Given the description of an element on the screen output the (x, y) to click on. 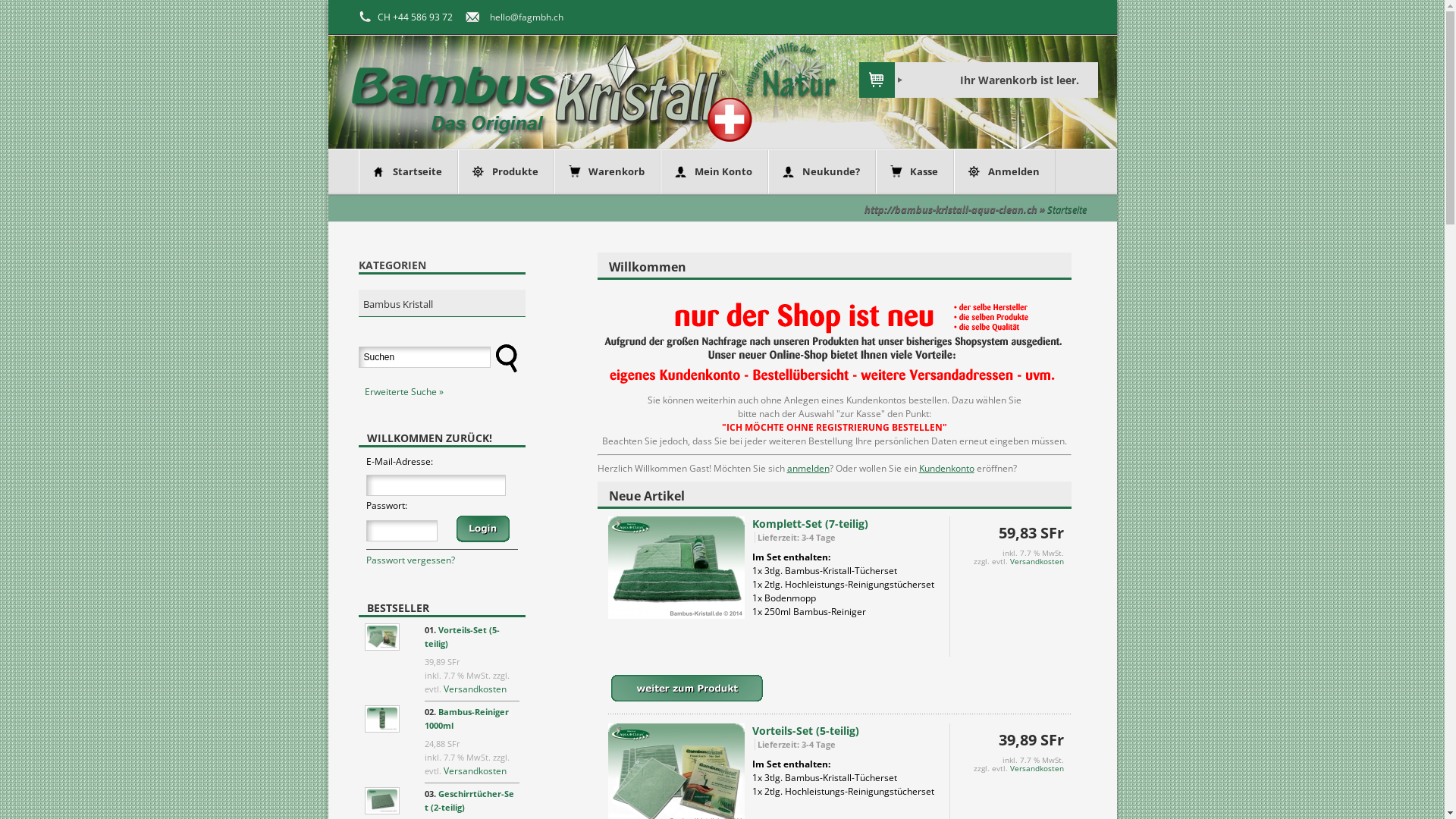
Versandkosten Element type: text (473, 688)
Warenkorb Element type: text (616, 171)
Neukunde? Element type: text (831, 171)
Startseite Element type: text (1065, 209)
anmelden Element type: text (808, 467)
 Anmelden  Element type: hover (482, 528)
Versandkosten Element type: text (473, 770)
hello@fagmbh.ch Element type: text (526, 16)
Versandkosten Element type: text (1036, 560)
Bambus-Reiniger 1000ml Element type: text (466, 718)
 Suchen  Element type: hover (505, 358)
Kundenkonto Element type: text (946, 467)
Mein Konto Element type: text (723, 171)
Passwort vergessen? Element type: text (409, 559)
Versandkosten Element type: text (1036, 767)
Vorteils-Set (5-teilig) Element type: text (461, 636)
Produkte Element type: text (514, 171)
Startseite Element type: text (417, 171)
Komplett-Set (7-teilig) Element type: text (810, 523)
Vorteils-Set (5-teilig) Element type: text (805, 730)
Bambus Kristall Element type: text (440, 302)
Anmelden Element type: text (1013, 171)
Kasse Element type: text (923, 171)
